Given the description of an element on the screen output the (x, y) to click on. 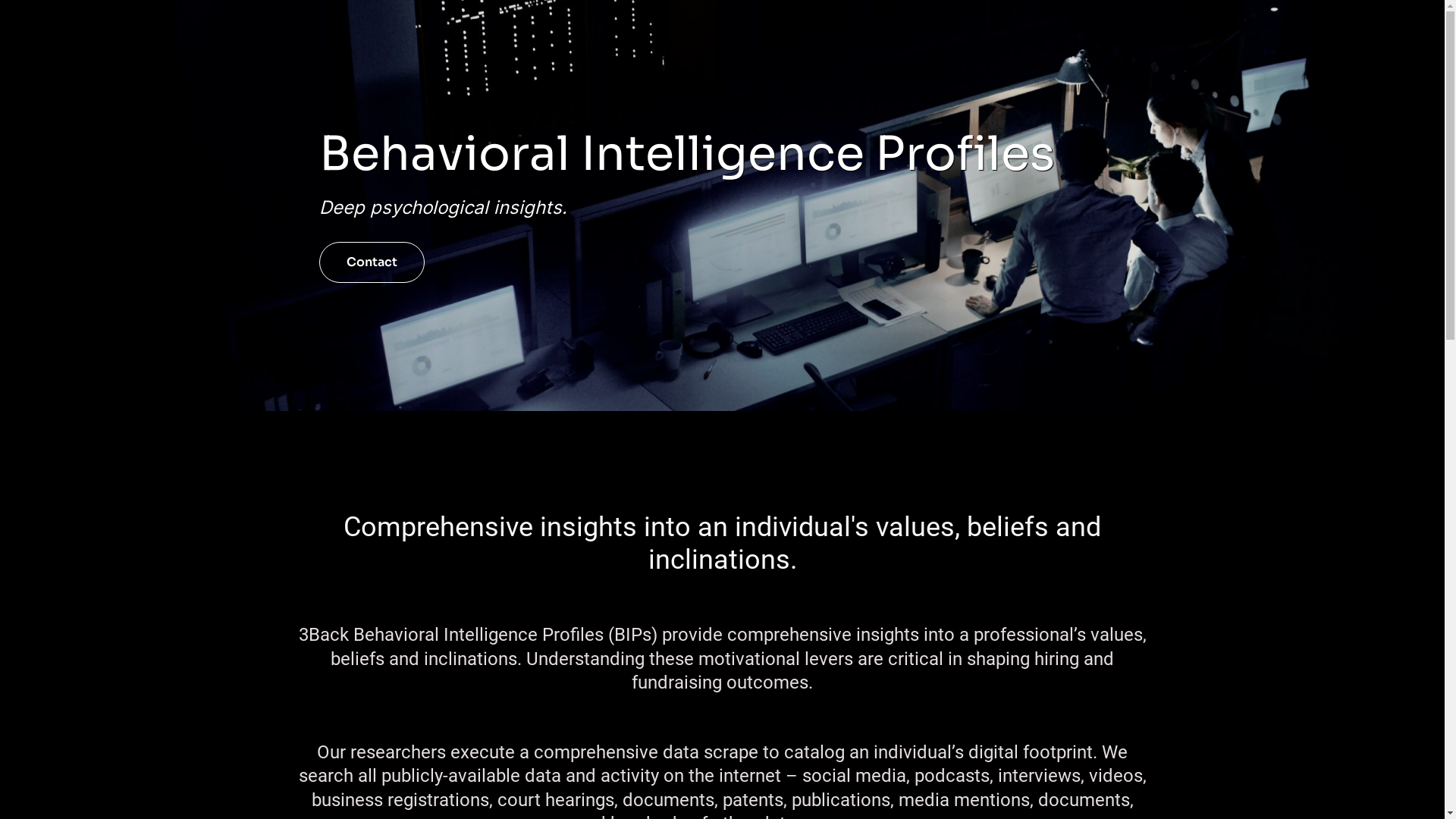
Skip to content Element type: text (11, 31)
Contact Element type: text (370, 261)
